Given the description of an element on the screen output the (x, y) to click on. 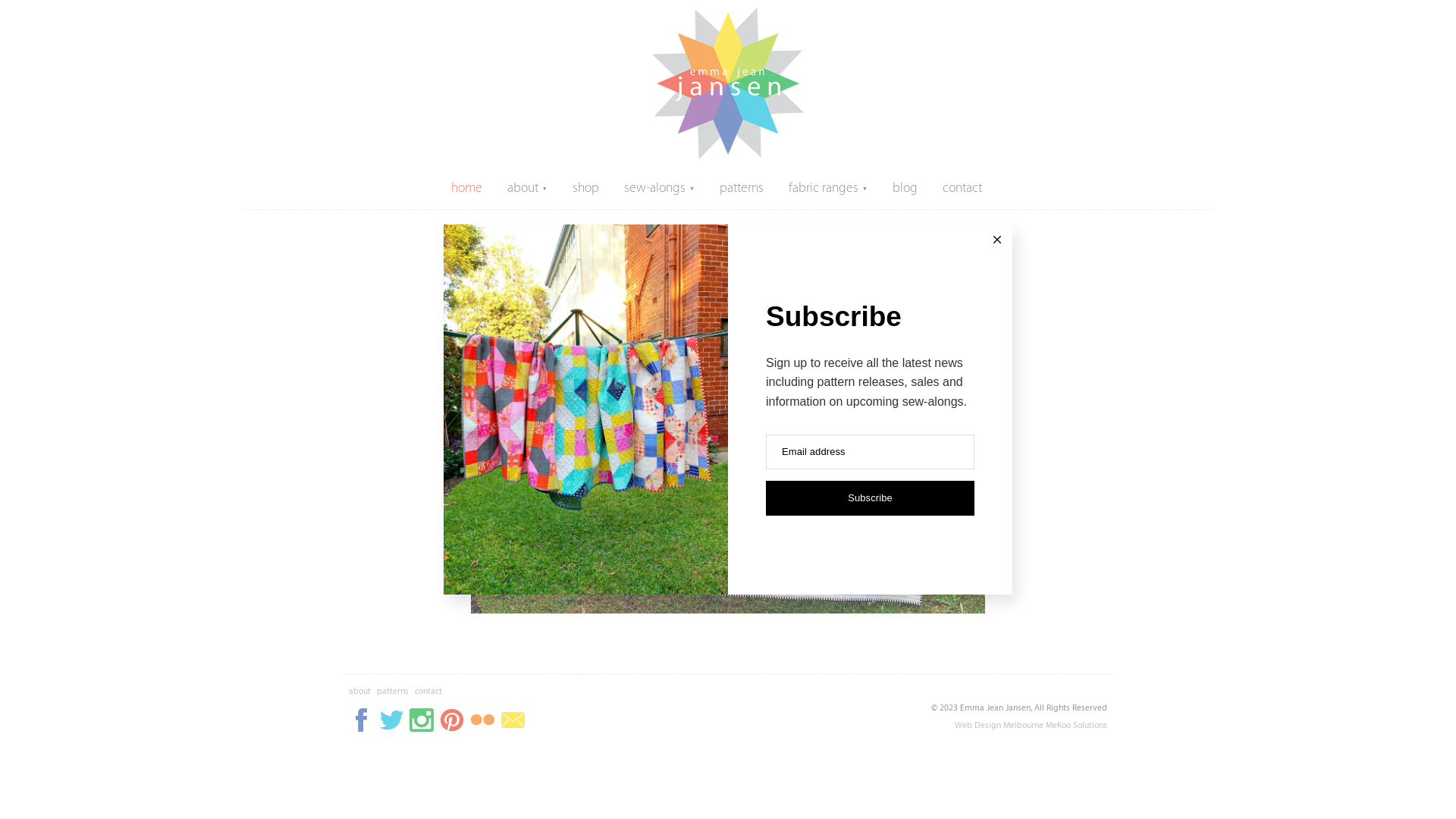
shop Element type: text (585, 187)
Subscribe Element type: text (869, 497)
Emma Jean Jansen's Logo Element type: hover (727, 83)
contact Element type: text (428, 690)
home Element type: text (466, 187)
Emma Jean Jansen's Logo Element type: hover (727, 155)
patterns Element type: text (741, 187)
contact Element type: text (962, 187)
patterns Element type: text (392, 690)
about Element type: text (359, 690)
blog Element type: text (904, 187)
Web Design Melbourne MeKoo Solutions Element type: text (1030, 725)
